Given the description of an element on the screen output the (x, y) to click on. 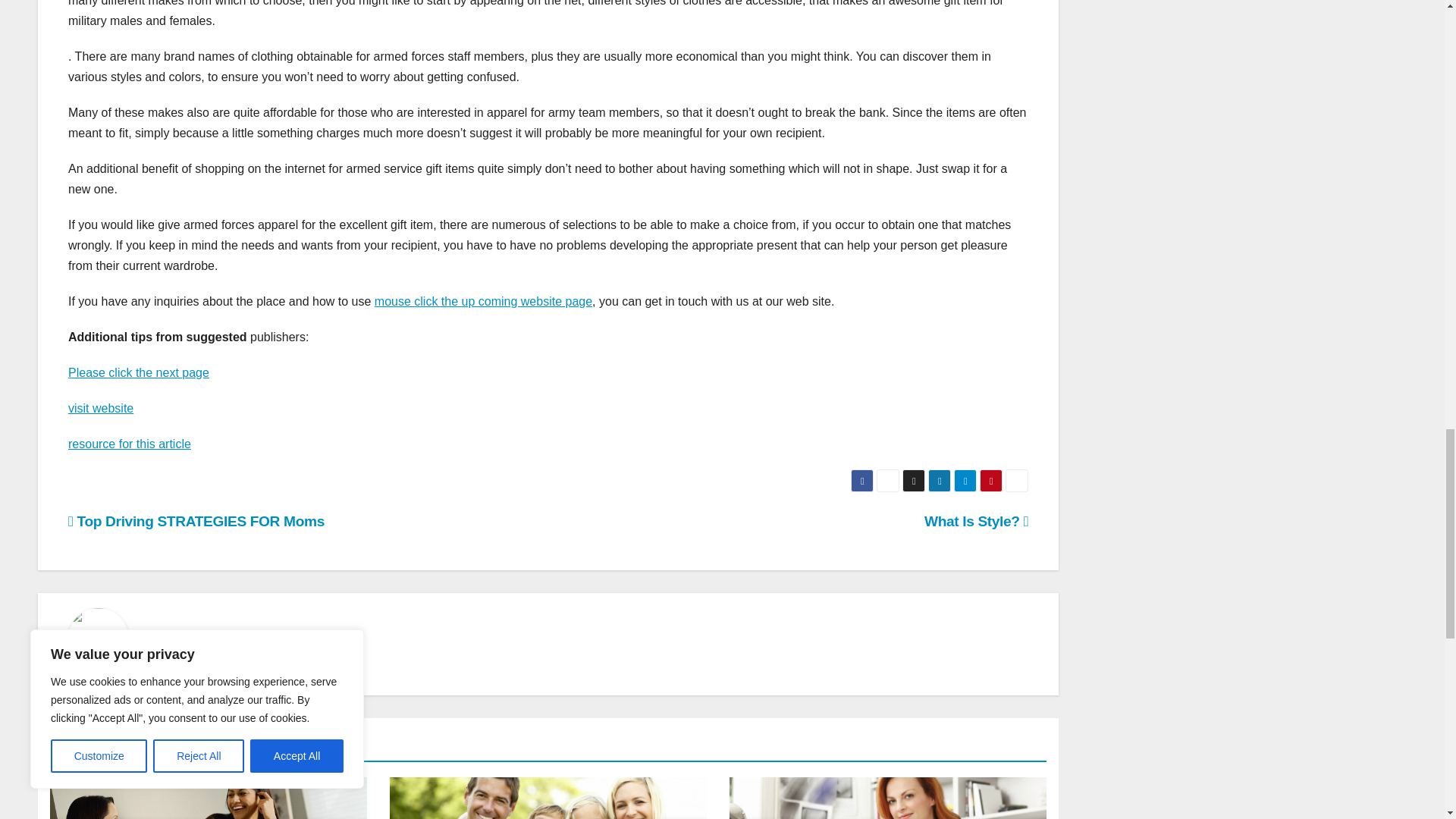
resource for this article (129, 443)
visit website (100, 408)
Please click the next page (138, 372)
mouse click the up coming website page (483, 300)
